Given the description of an element on the screen output the (x, y) to click on. 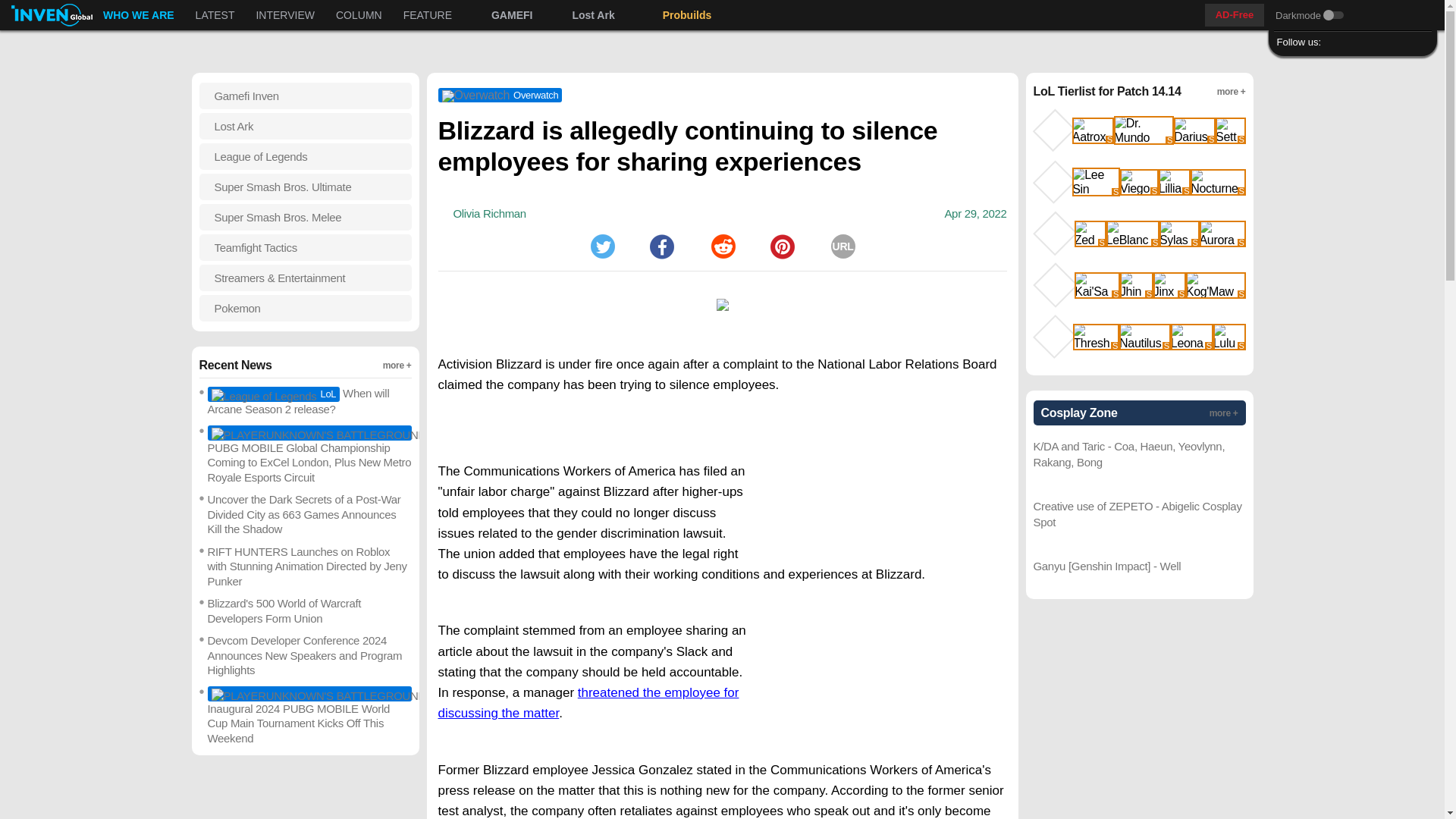
Tweet (601, 246)
COLUMN (358, 15)
URL (843, 246)
Login (1424, 15)
Inven Global Facebook (1358, 42)
Inven Global Twitter (1334, 42)
WHO WE ARE (407, 15)
Inven Global Instagram (138, 15)
Submit (1380, 42)
Inven Global Facebook (721, 246)
AD-Free (1358, 42)
LATEST (1234, 15)
Overwatch (215, 15)
Inven Global (500, 94)
